Given the description of an element on the screen output the (x, y) to click on. 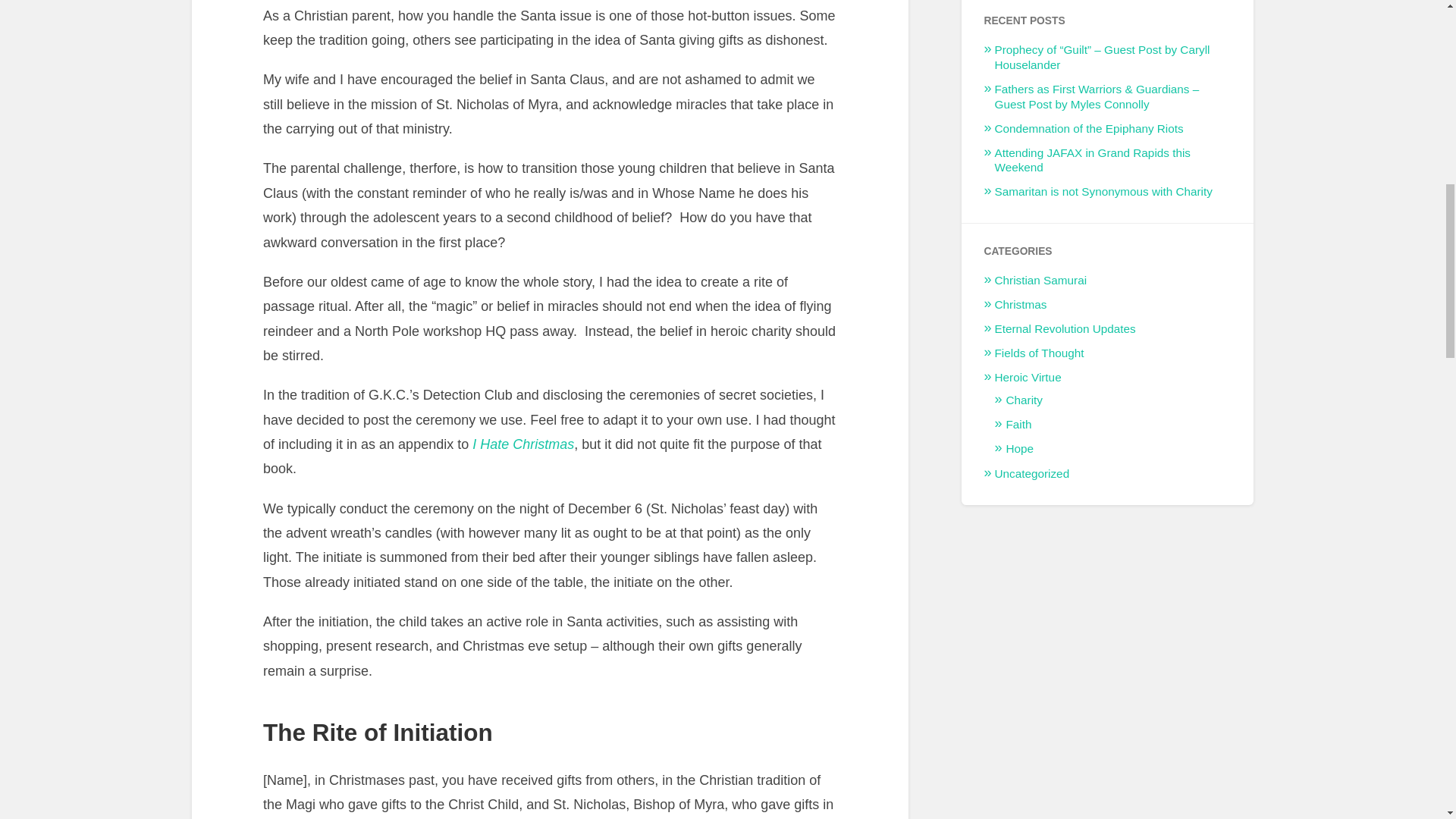
I Hate Christmas (522, 444)
Posts related to improving a life of virtue.  (1027, 376)
Guest posts from the democracy of the dead.  (1039, 352)
